Given the description of an element on the screen output the (x, y) to click on. 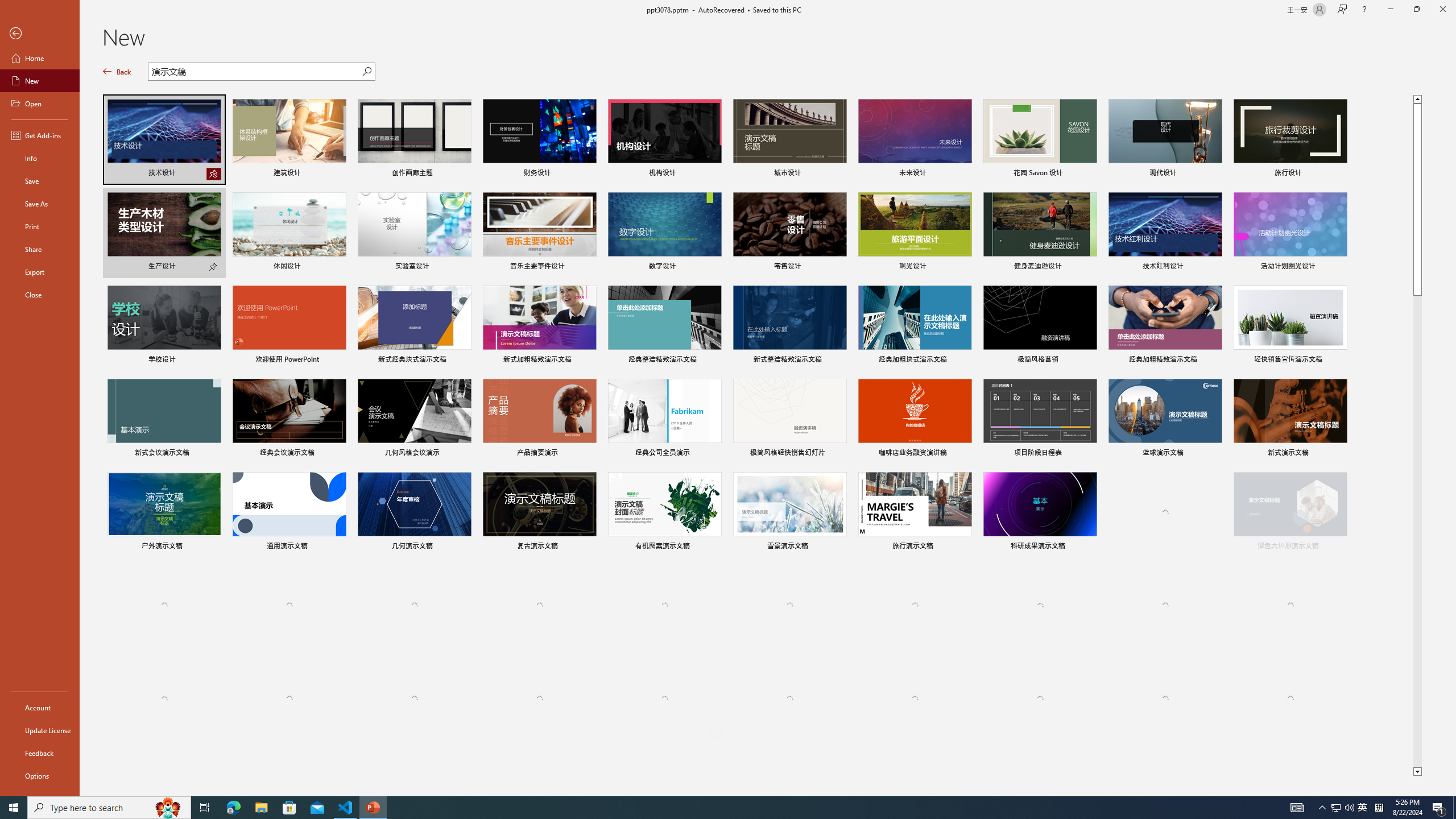
Save As (40, 203)
Options (40, 775)
